Given the description of an element on the screen output the (x, y) to click on. 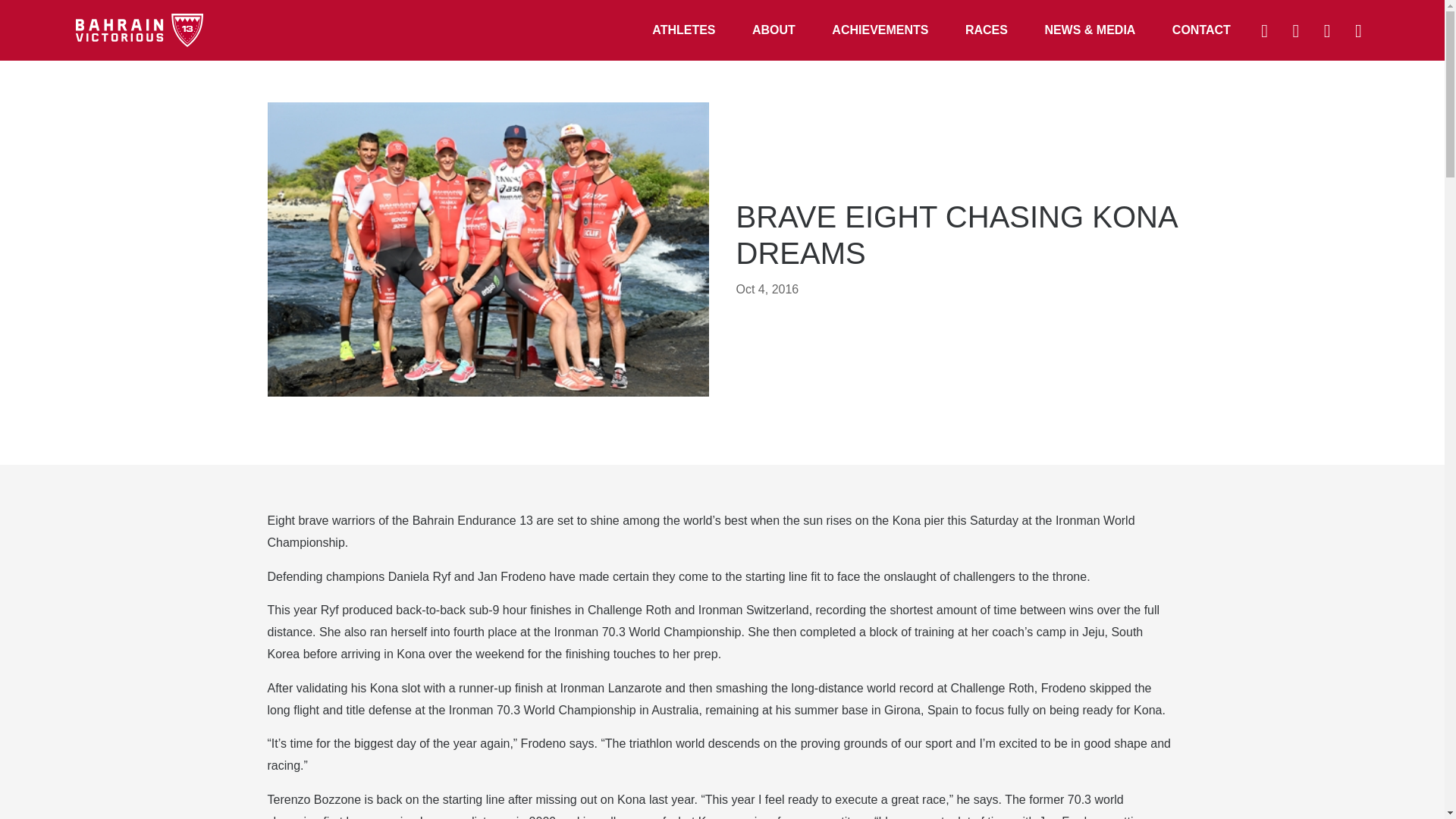
CONTACT (1201, 30)
ACHIEVEMENTS (879, 30)
ATHLETES (683, 30)
RACES (987, 30)
ABOUT (773, 30)
